Given the description of an element on the screen output the (x, y) to click on. 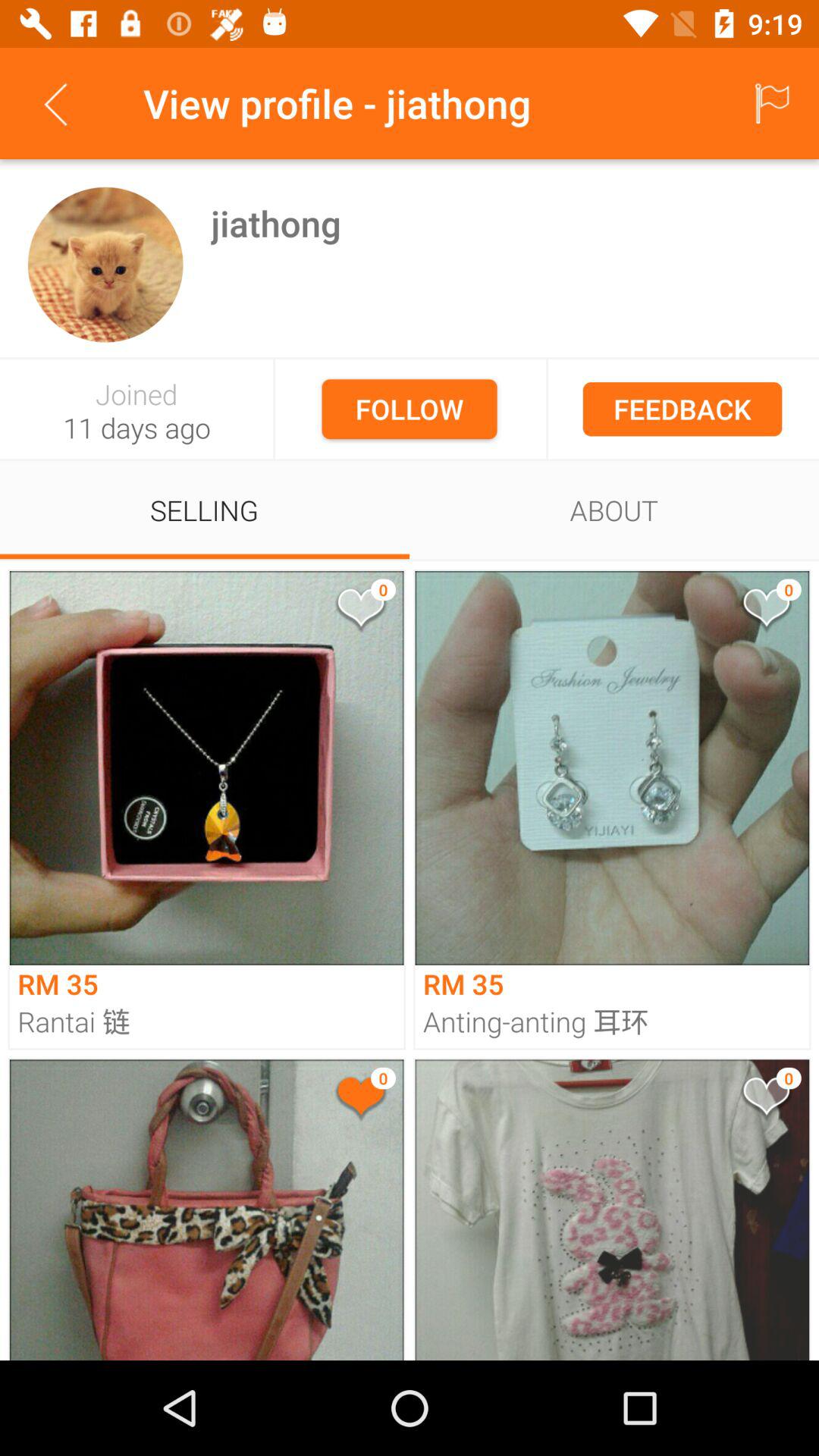
like item (359, 1099)
